Given the description of an element on the screen output the (x, y) to click on. 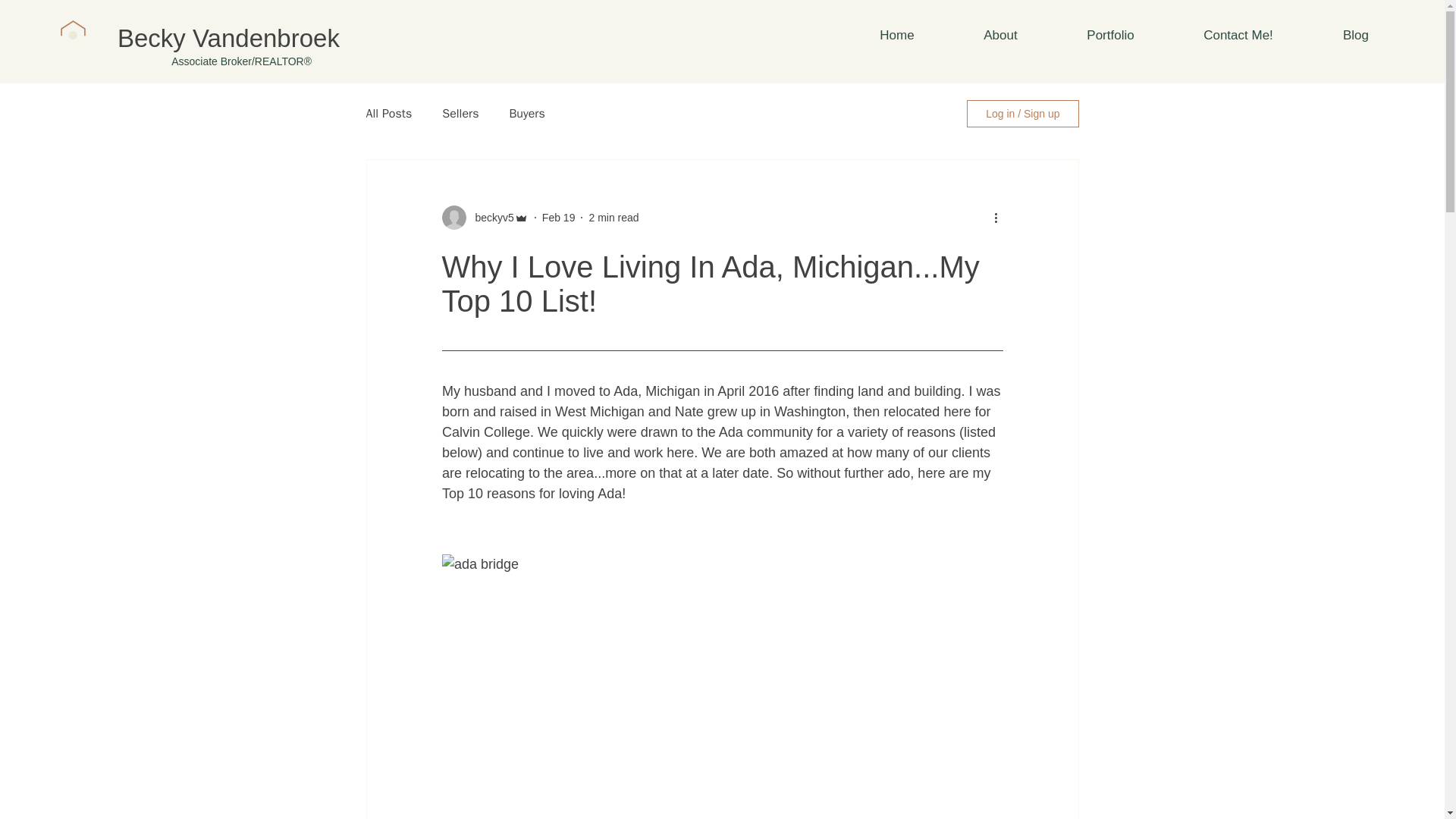
Contact Me! (1238, 35)
Sellers (460, 114)
Feb 19 (558, 216)
Portfolio (1110, 35)
Home (897, 35)
All Posts (388, 114)
Buyers (526, 114)
2 min read (613, 216)
beckyv5 (489, 217)
Blog (1355, 35)
